Given the description of an element on the screen output the (x, y) to click on. 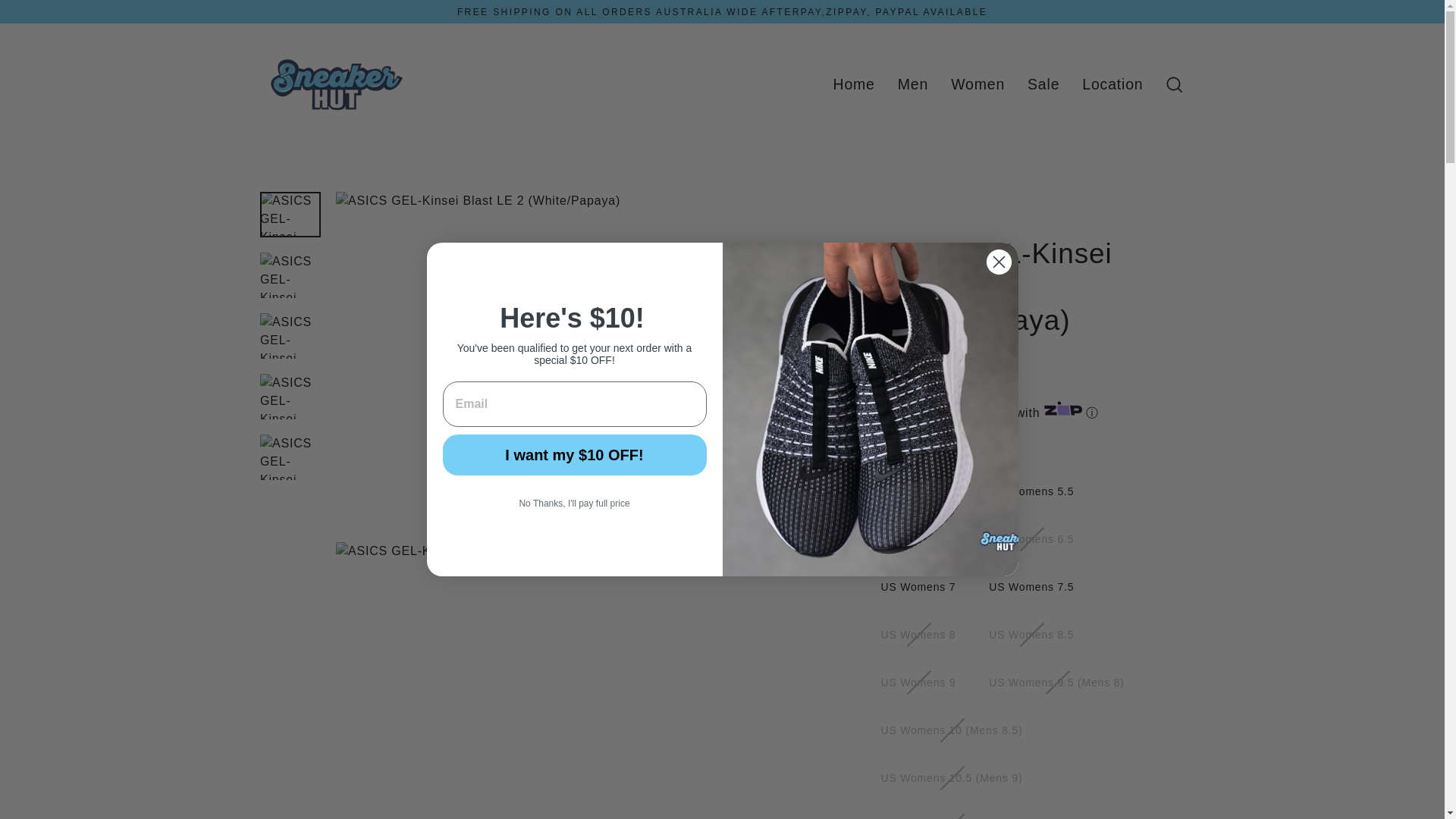
Home (854, 84)
Sale (1043, 84)
Women (977, 84)
Location (1112, 84)
Men (912, 84)
Search (1173, 83)
